Given the description of an element on the screen output the (x, y) to click on. 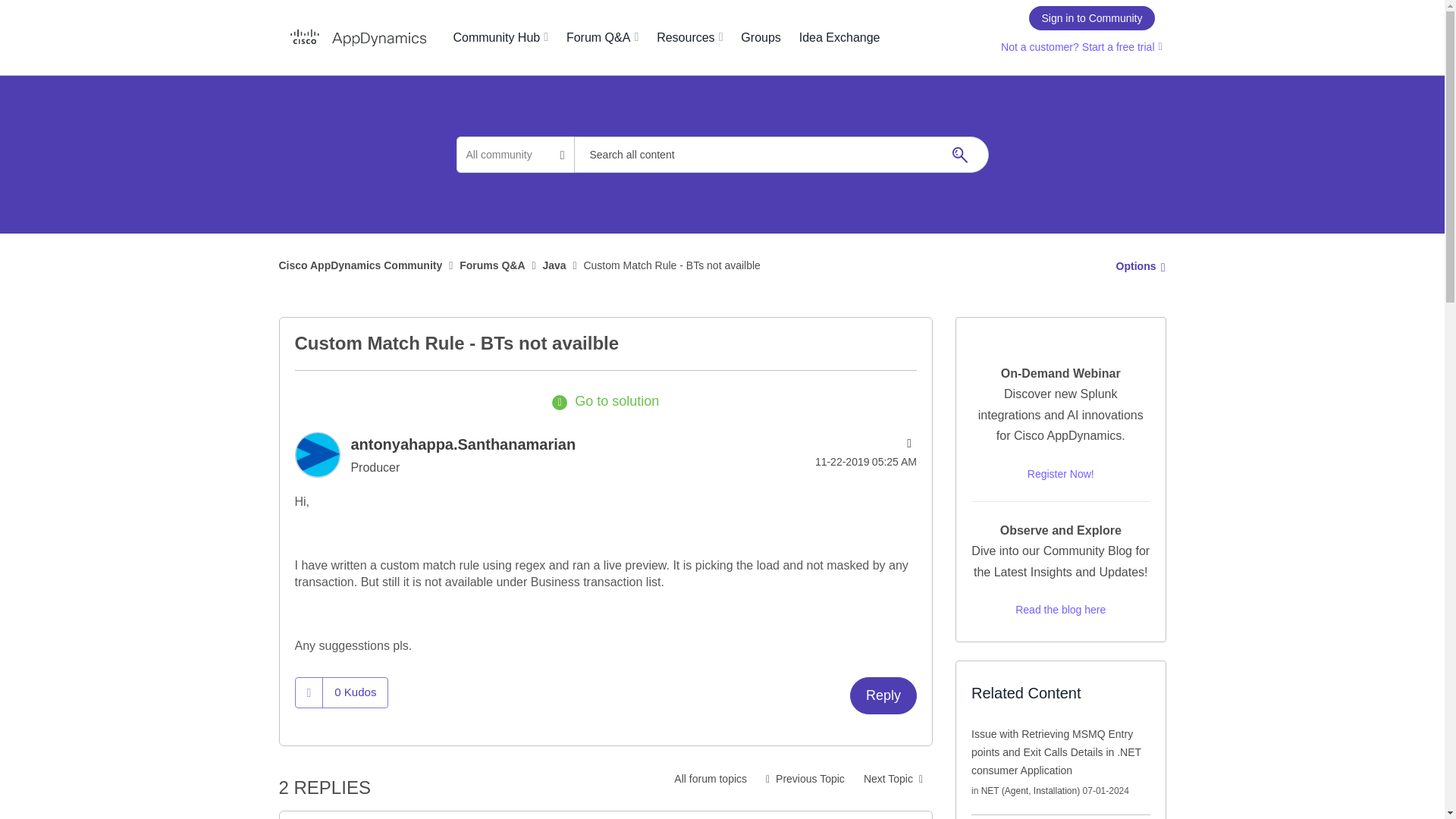
Search Granularity (515, 154)
Cisco AppDynamics Community (357, 37)
Community Hub (500, 37)
Not a customer? (1037, 50)
Search (959, 154)
Start a free trial (1116, 50)
Search (959, 154)
Show option menu (1136, 265)
Resources (689, 37)
Search (780, 154)
